Given the description of an element on the screen output the (x, y) to click on. 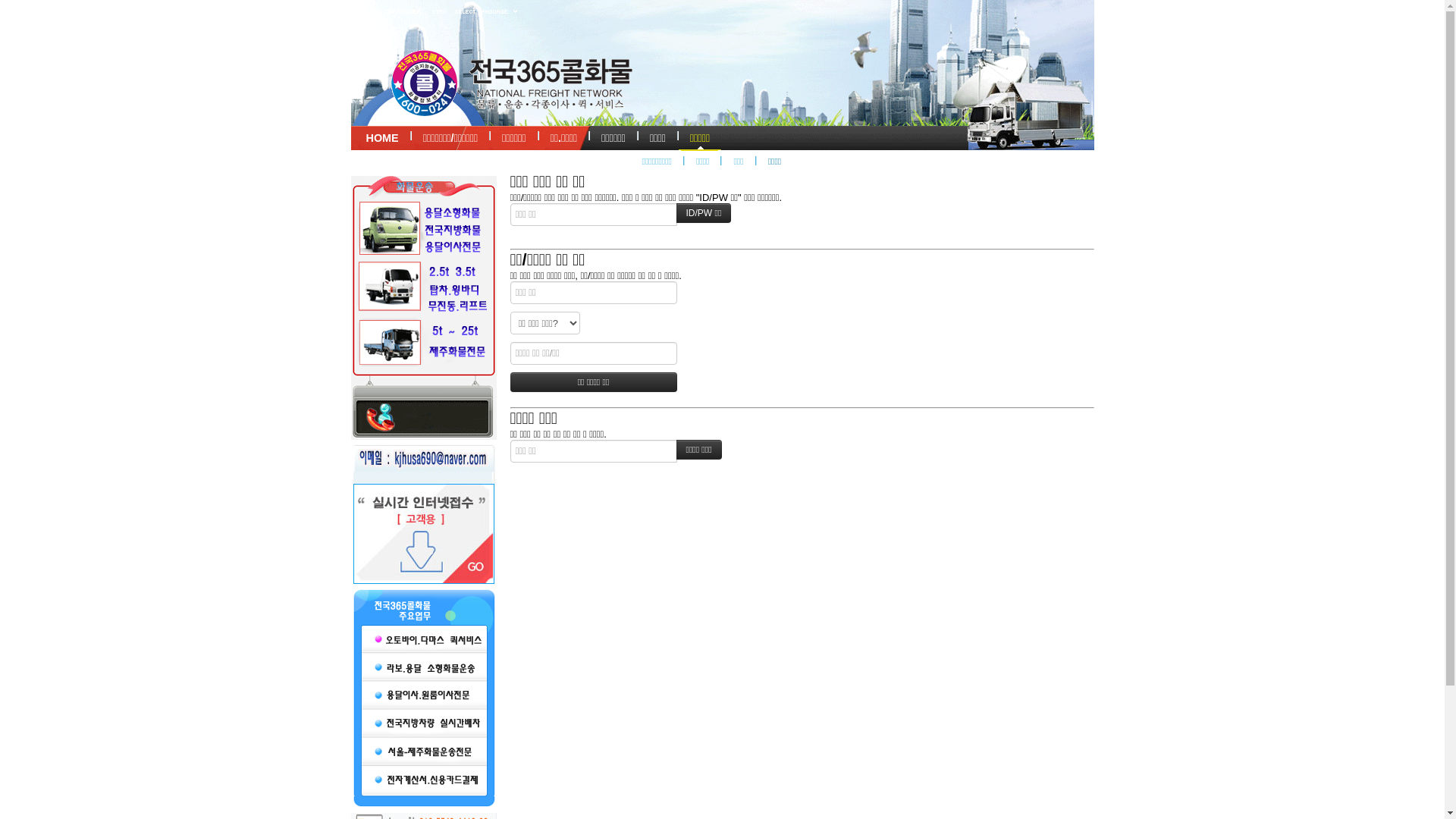
HOME Element type: text (382, 136)
Select Language Element type: text (486, 11)
